Given the description of an element on the screen output the (x, y) to click on. 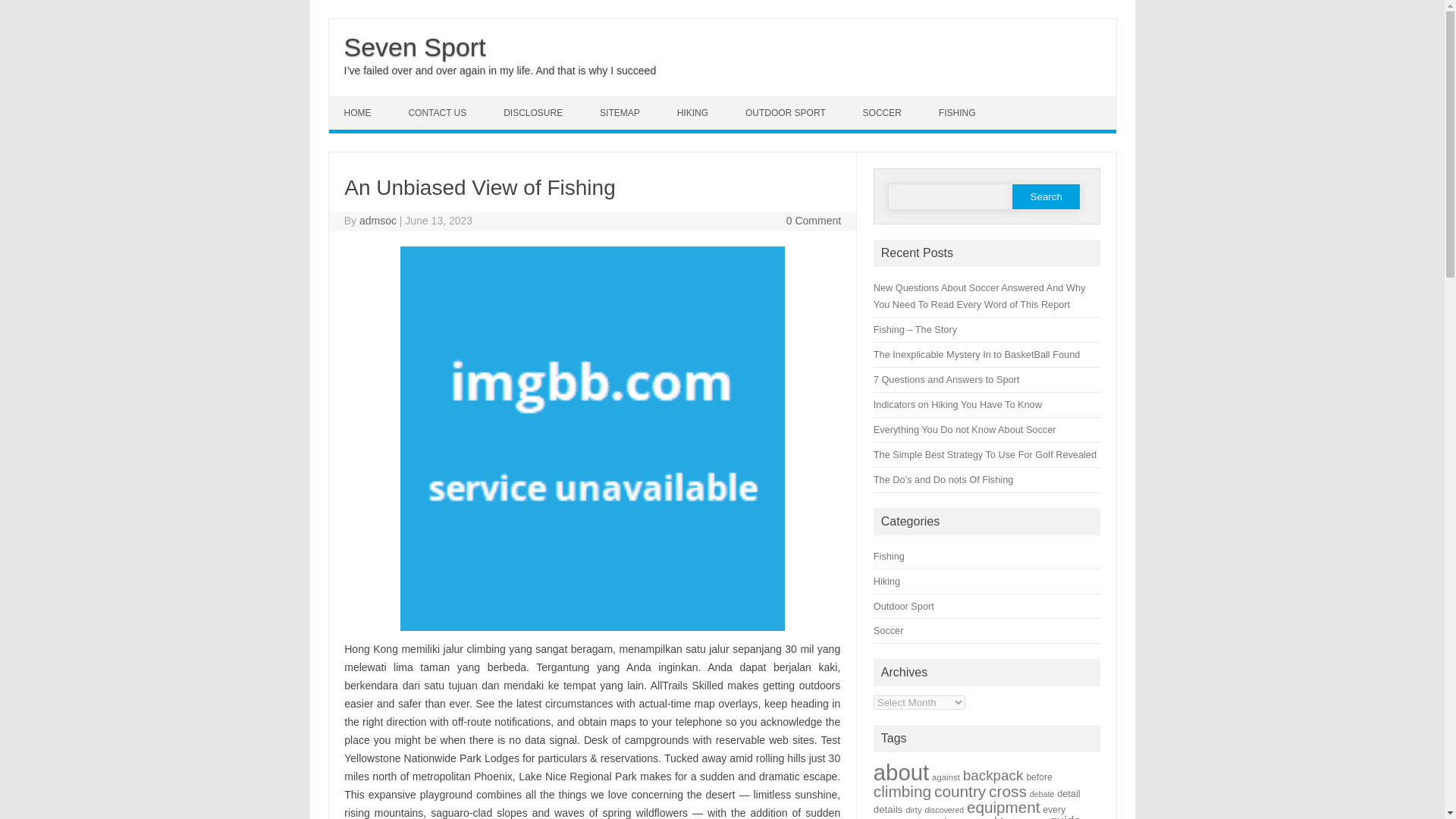
Skip to content (363, 101)
Soccer (888, 630)
Posts by admsoc (377, 220)
7 Questions and Answers to Sport (946, 378)
The Inexplicable Mystery In to BasketBall Found (976, 354)
HIKING (694, 112)
SOCCER (883, 112)
backpack (992, 774)
against (945, 777)
CONTACT US (438, 112)
debate (1041, 793)
country (959, 791)
The Simple Best Strategy To Use For Golf Revealed (984, 454)
Hiking (886, 581)
admsoc (377, 220)
